Given the description of an element on the screen output the (x, y) to click on. 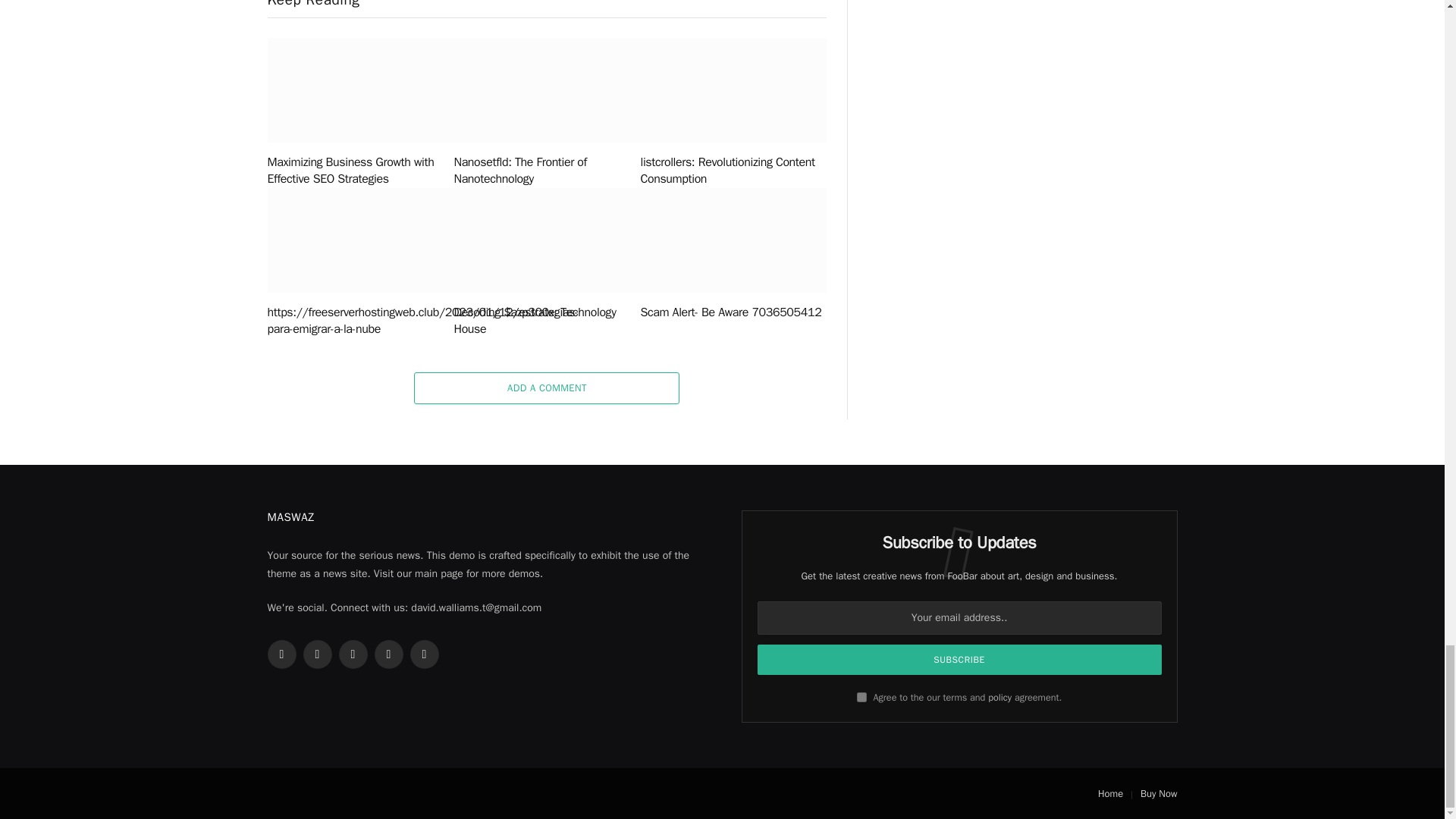
Subscribe (958, 659)
on (861, 696)
